Given the description of an element on the screen output the (x, y) to click on. 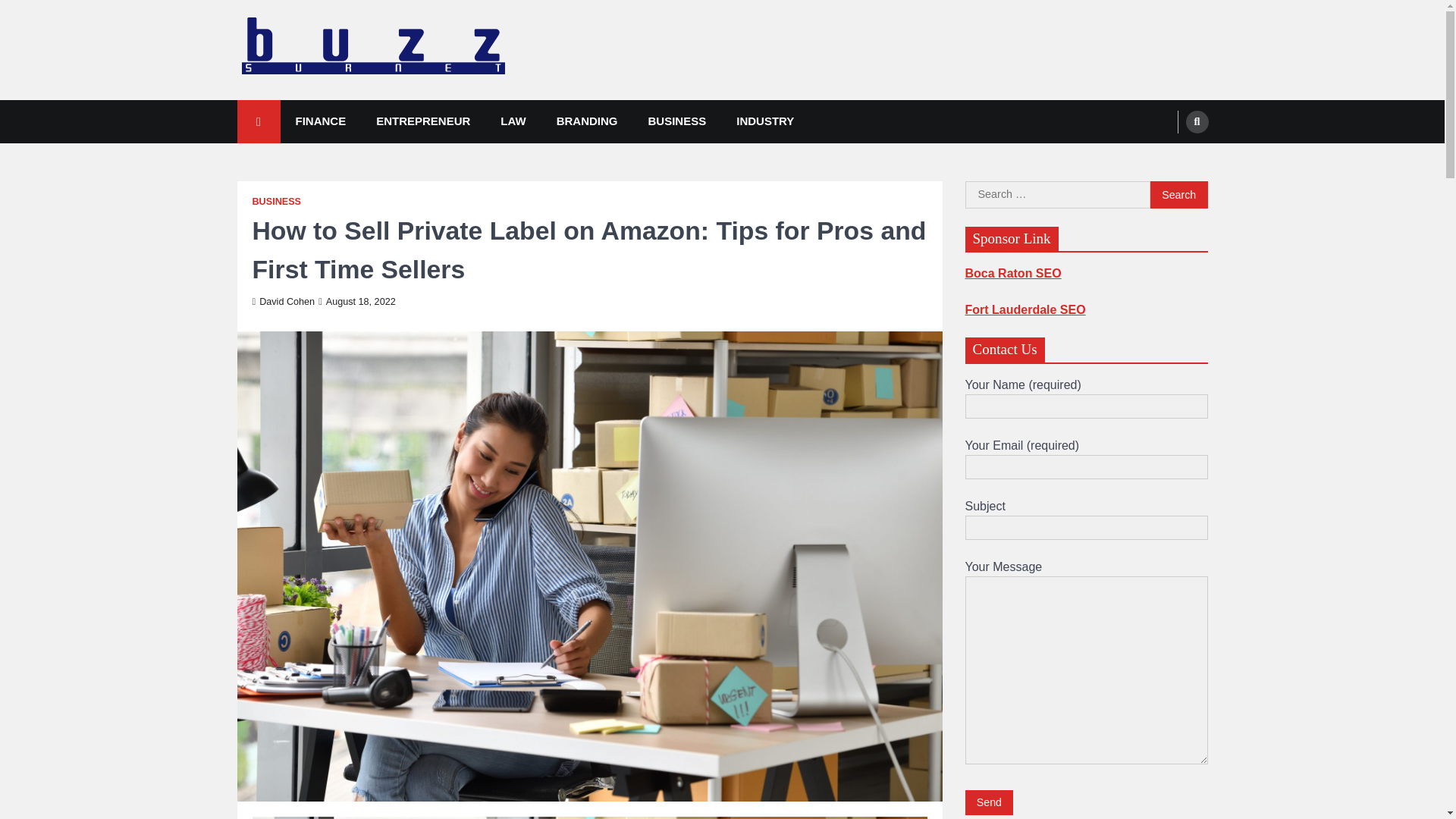
Search (1197, 121)
Fort Lauderdale SEO (1023, 309)
BRANDING (587, 121)
Search (1179, 194)
Send (988, 802)
BUSINESS (276, 202)
ENTREPRENEUR (422, 121)
INDUSTRY (764, 121)
Search (1168, 157)
BUSINESS (677, 121)
Send (988, 802)
Boca Raton SEO (1012, 273)
Search (1179, 194)
LAW (512, 121)
David Cohen (282, 301)
